Given the description of an element on the screen output the (x, y) to click on. 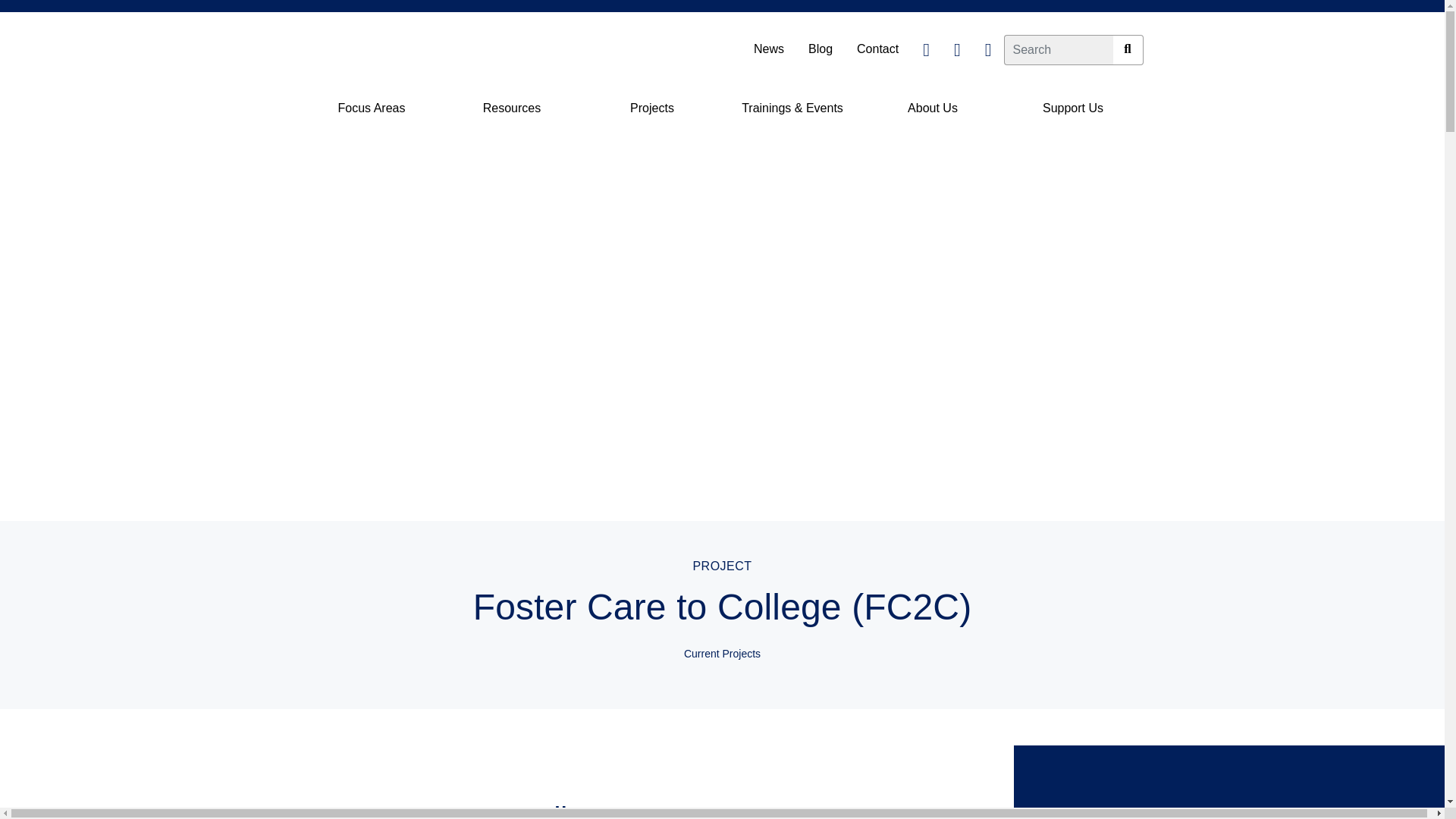
Contact (877, 49)
News (768, 49)
Blog (820, 49)
